Given the description of an element on the screen output the (x, y) to click on. 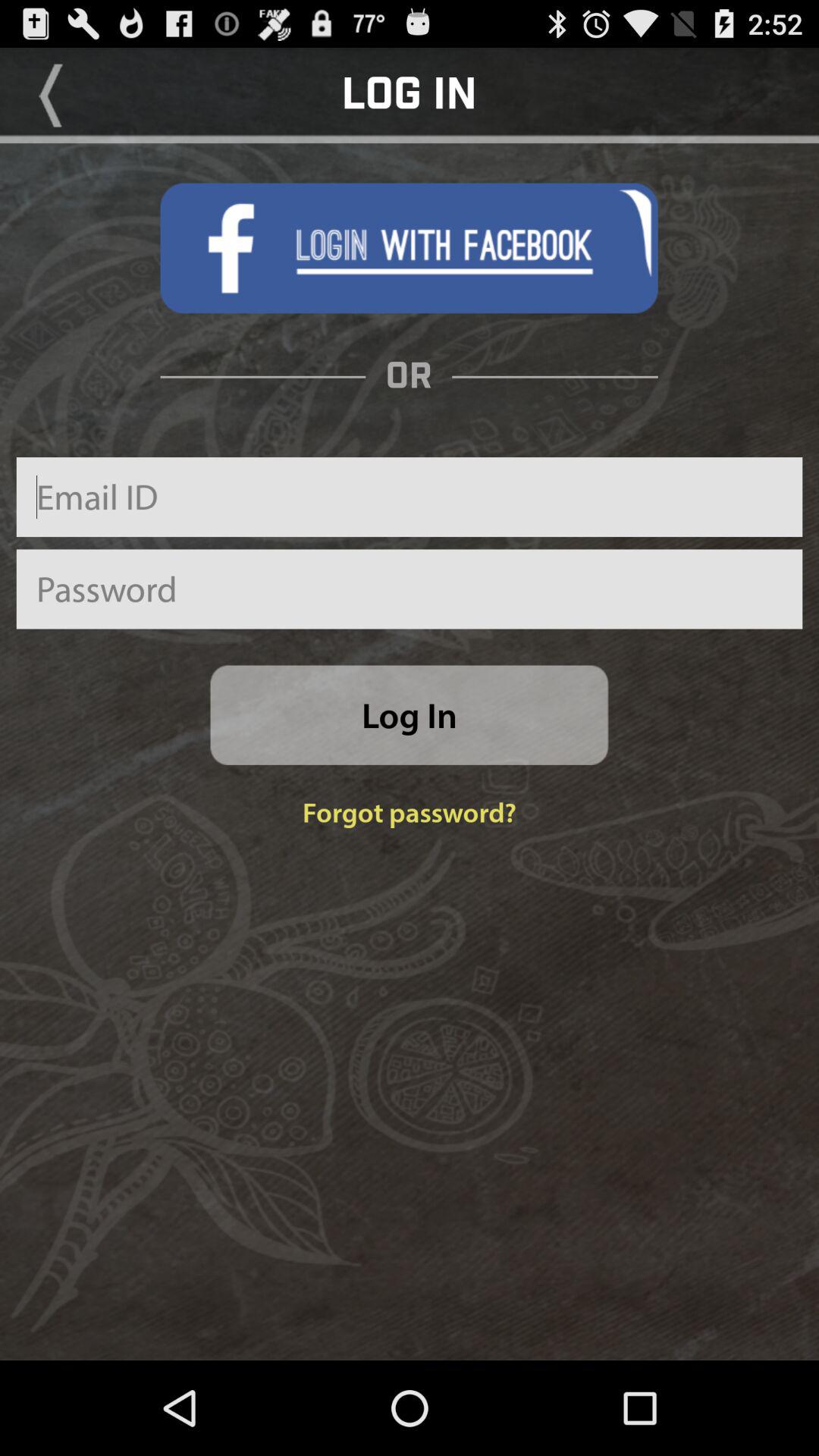
click to login with facebook (409, 248)
